Given the description of an element on the screen output the (x, y) to click on. 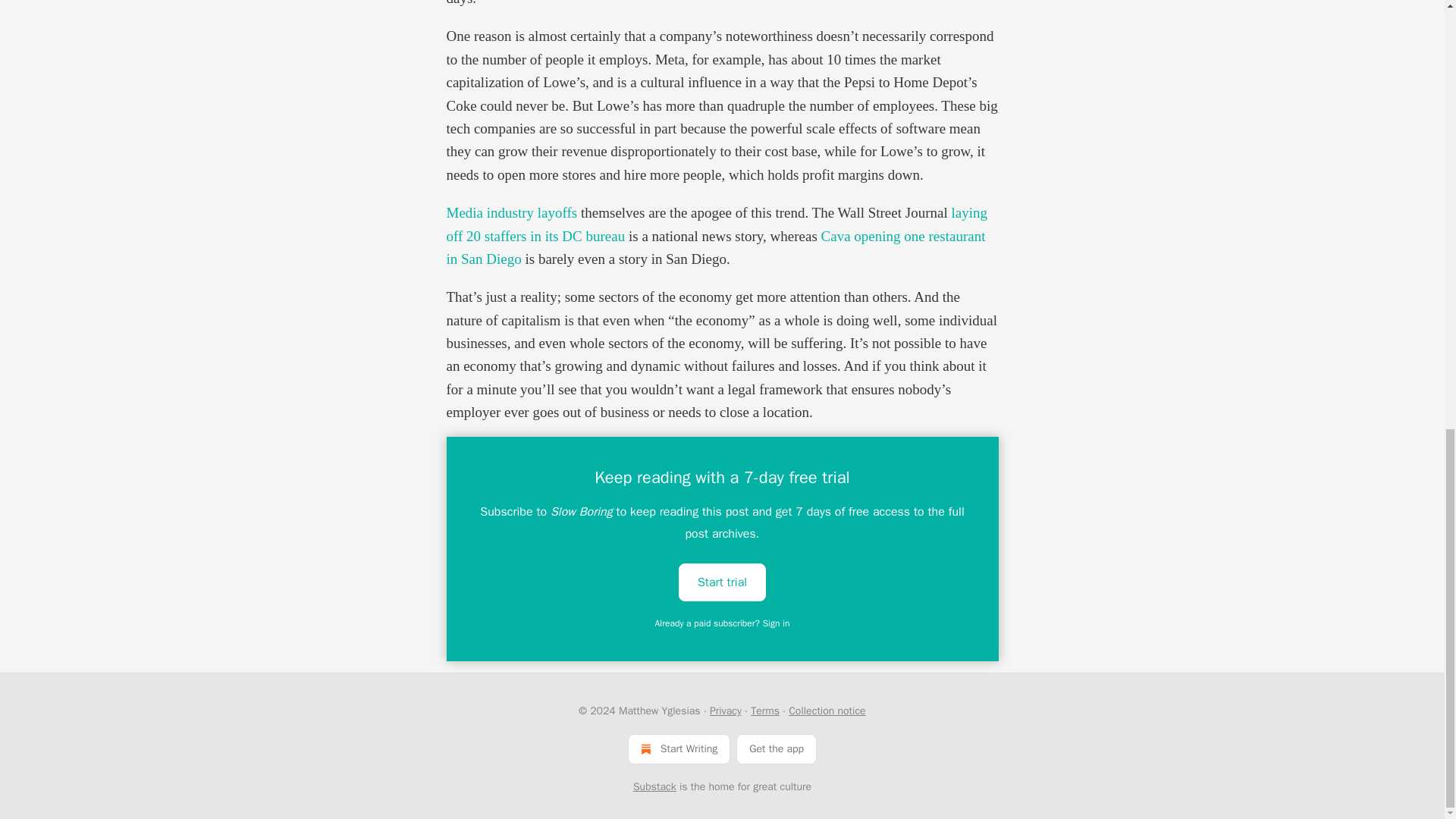
Media industry layoffs (510, 212)
Cava opening one restaurant in San Diego (715, 247)
Start Writing (678, 748)
Start trial (721, 581)
Terms (764, 710)
Privacy (725, 710)
Get the app (776, 748)
Collection notice (826, 710)
Start trial (721, 582)
Substack (655, 786)
Already a paid subscriber? Sign in (722, 623)
laying off 20 staffers in its DC bureau (716, 223)
